Given the description of an element on the screen output the (x, y) to click on. 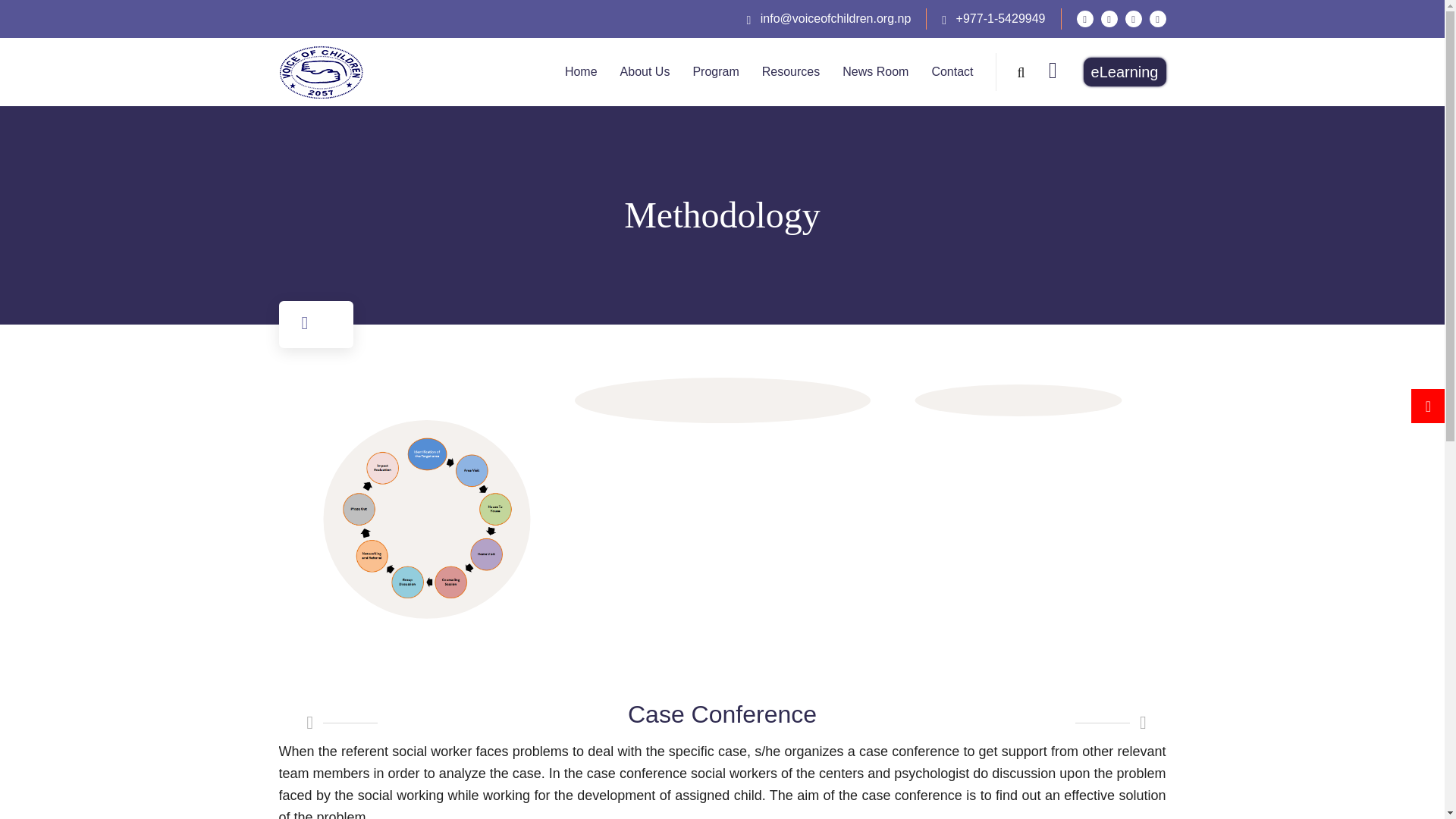
eLearning (1124, 71)
Program (715, 71)
About Us (644, 71)
Contact (951, 71)
Resources (790, 71)
News Room (875, 71)
Home (580, 71)
